Given the description of an element on the screen output the (x, y) to click on. 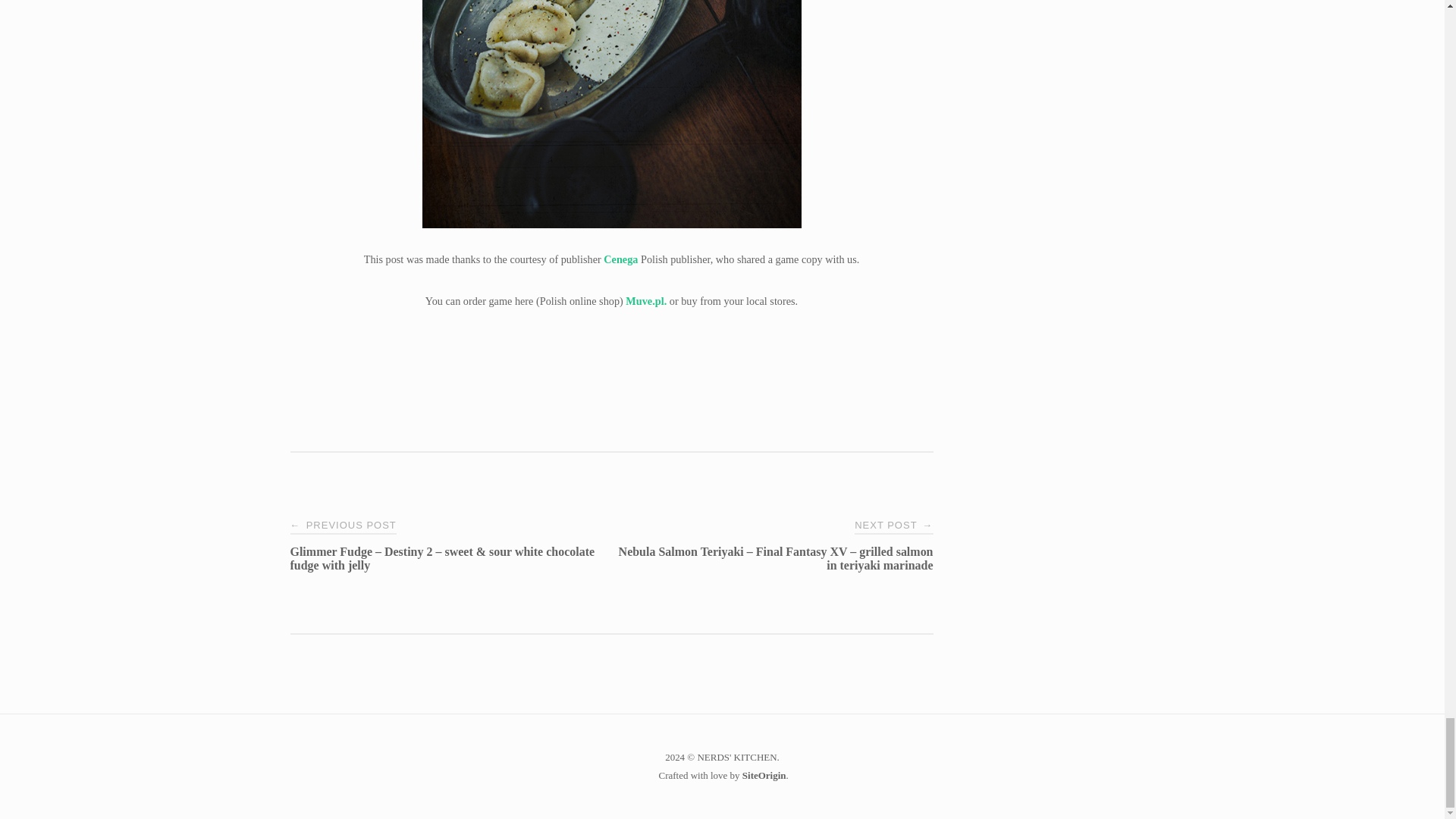
Cenega (620, 259)
Muve.pl. (646, 300)
SiteOrigin (764, 775)
